Given the description of an element on the screen output the (x, y) to click on. 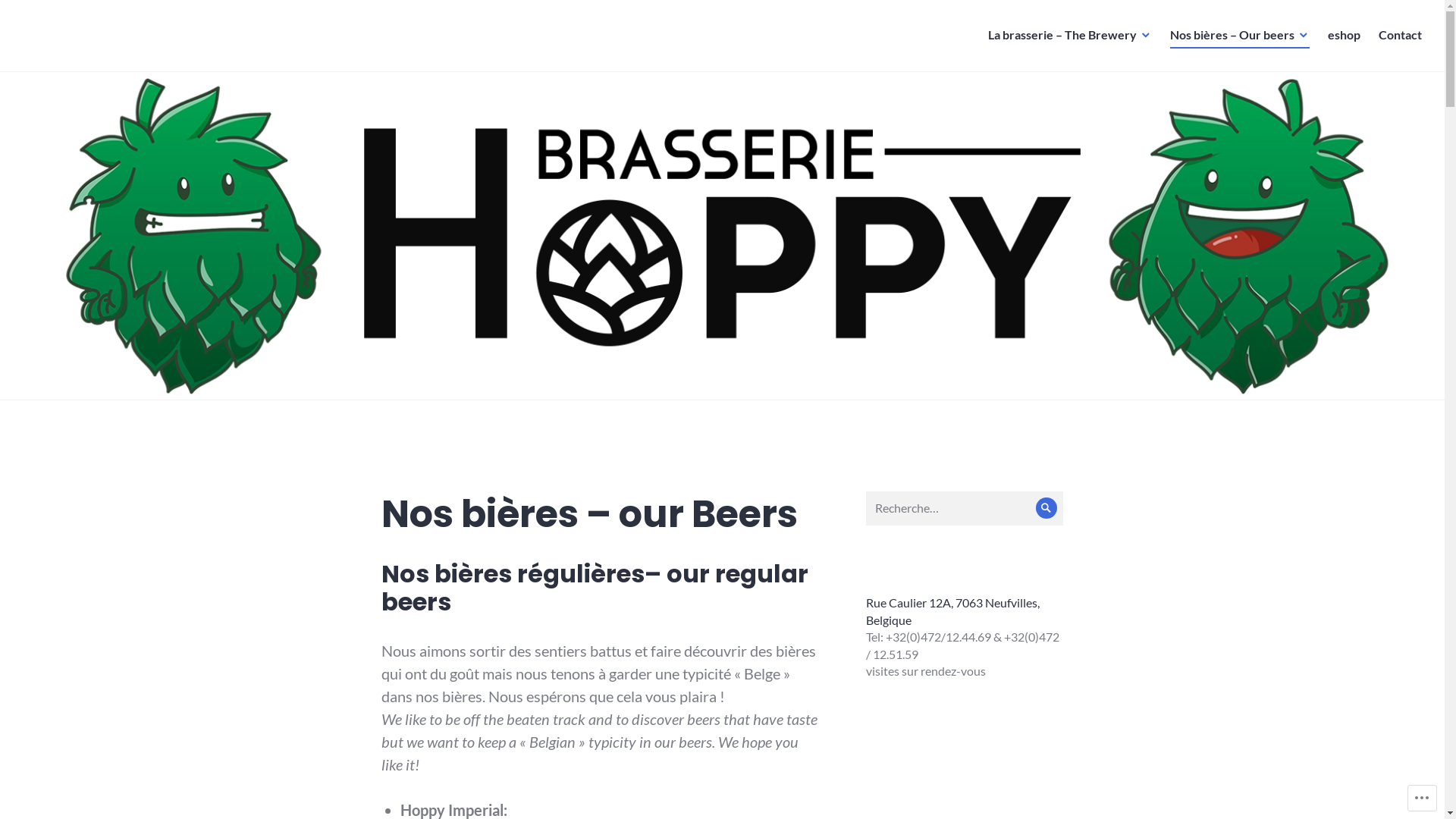
Contact Element type: text (1399, 35)
Rue Caulier 12A, 7063 Neufvilles, Belgique Element type: text (952, 611)
BRASSERIE HOPPY Element type: text (108, 46)
eshop Element type: text (1343, 35)
